Given the description of an element on the screen output the (x, y) to click on. 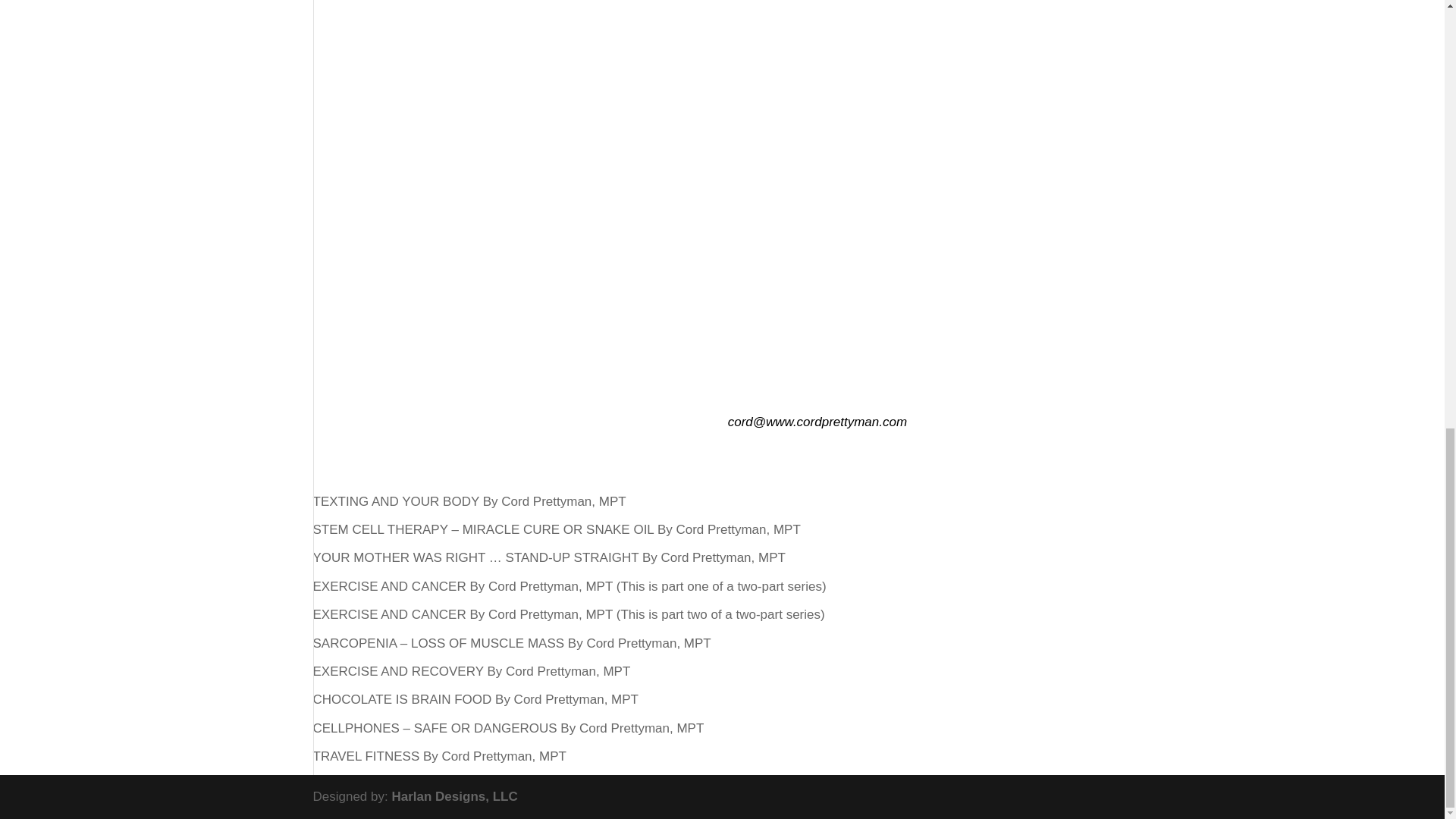
CHOCOLATE IS BRAIN FOOD By Cord Prettyman, MPT (475, 699)
TEXTING AND YOUR BODY By Cord Prettyman, MPT (469, 501)
EXERCISE AND RECOVERY By Cord Prettyman, MPT (471, 671)
